Given the description of an element on the screen output the (x, y) to click on. 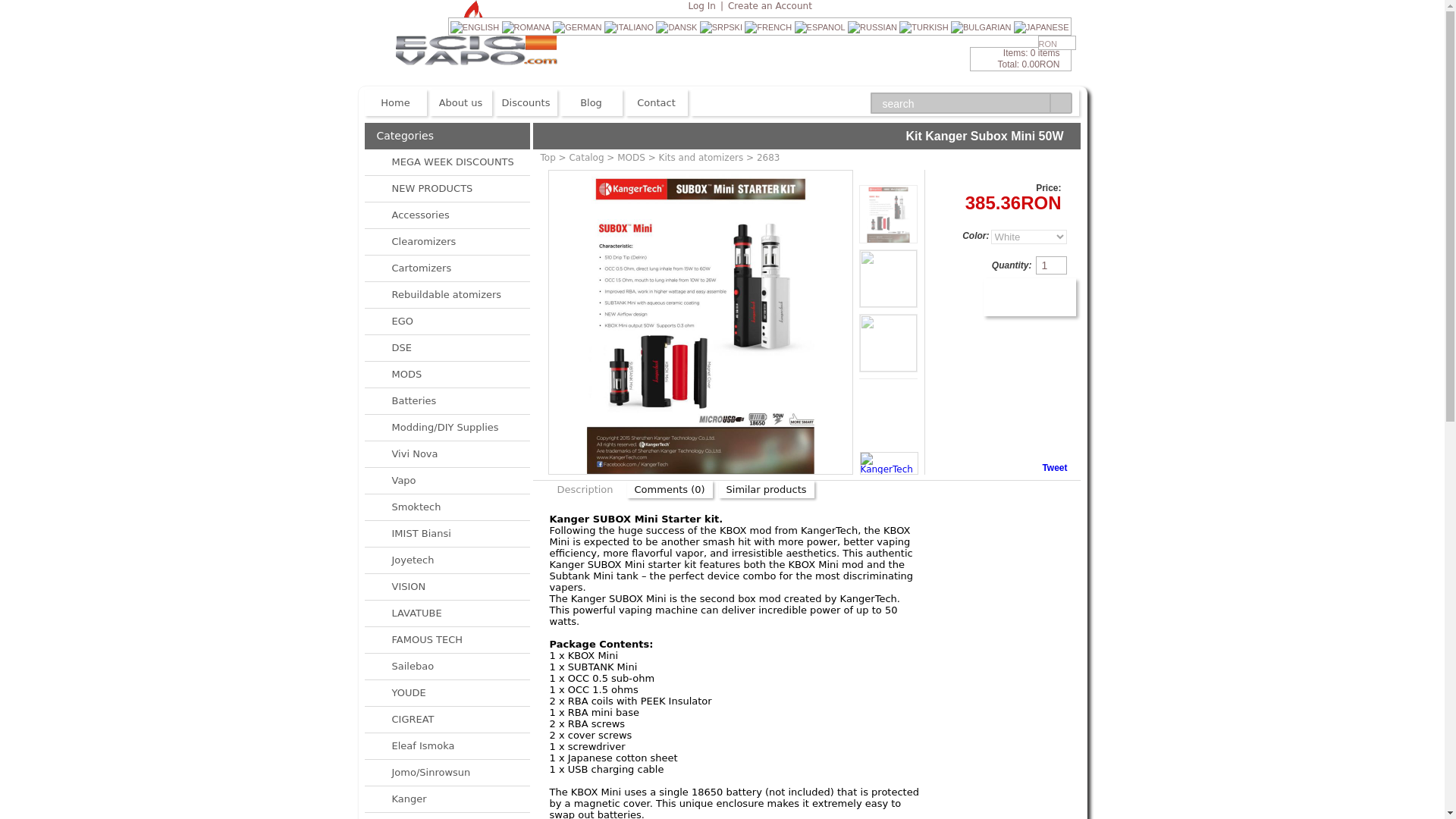
Top (547, 157)
Ecig-Vapo Electronic cigarettes blog (590, 102)
 Japanese  (1040, 27)
Home (395, 102)
 Russian  (871, 27)
Log In (702, 6)
Tweet (1054, 467)
Kits and atomizers (701, 157)
About us (460, 102)
 English  (474, 27)
